Given the description of an element on the screen output the (x, y) to click on. 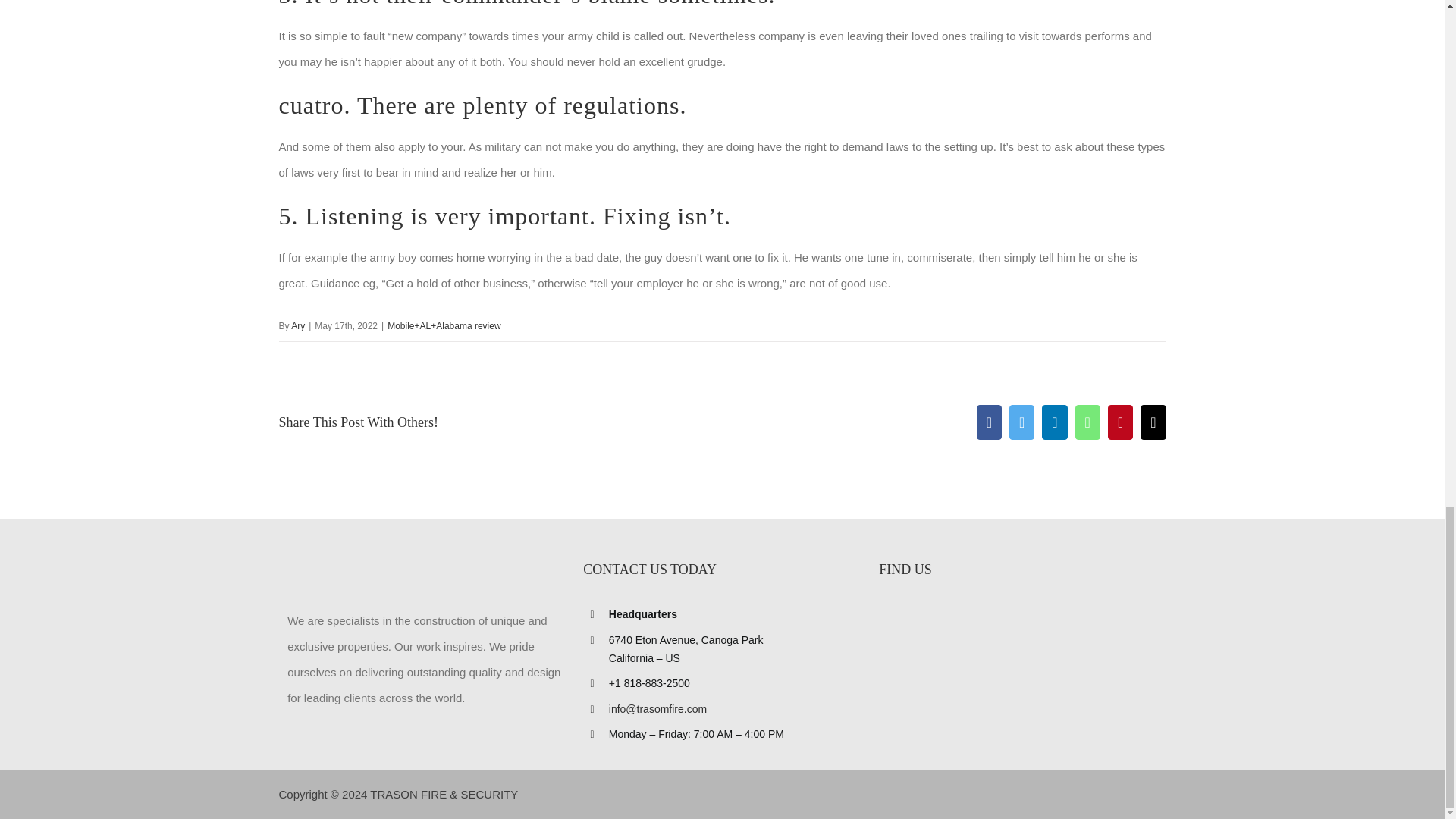
Posts by Ary (297, 326)
Ary (297, 326)
size400logo principal (391, 569)
